Given the description of an element on the screen output the (x, y) to click on. 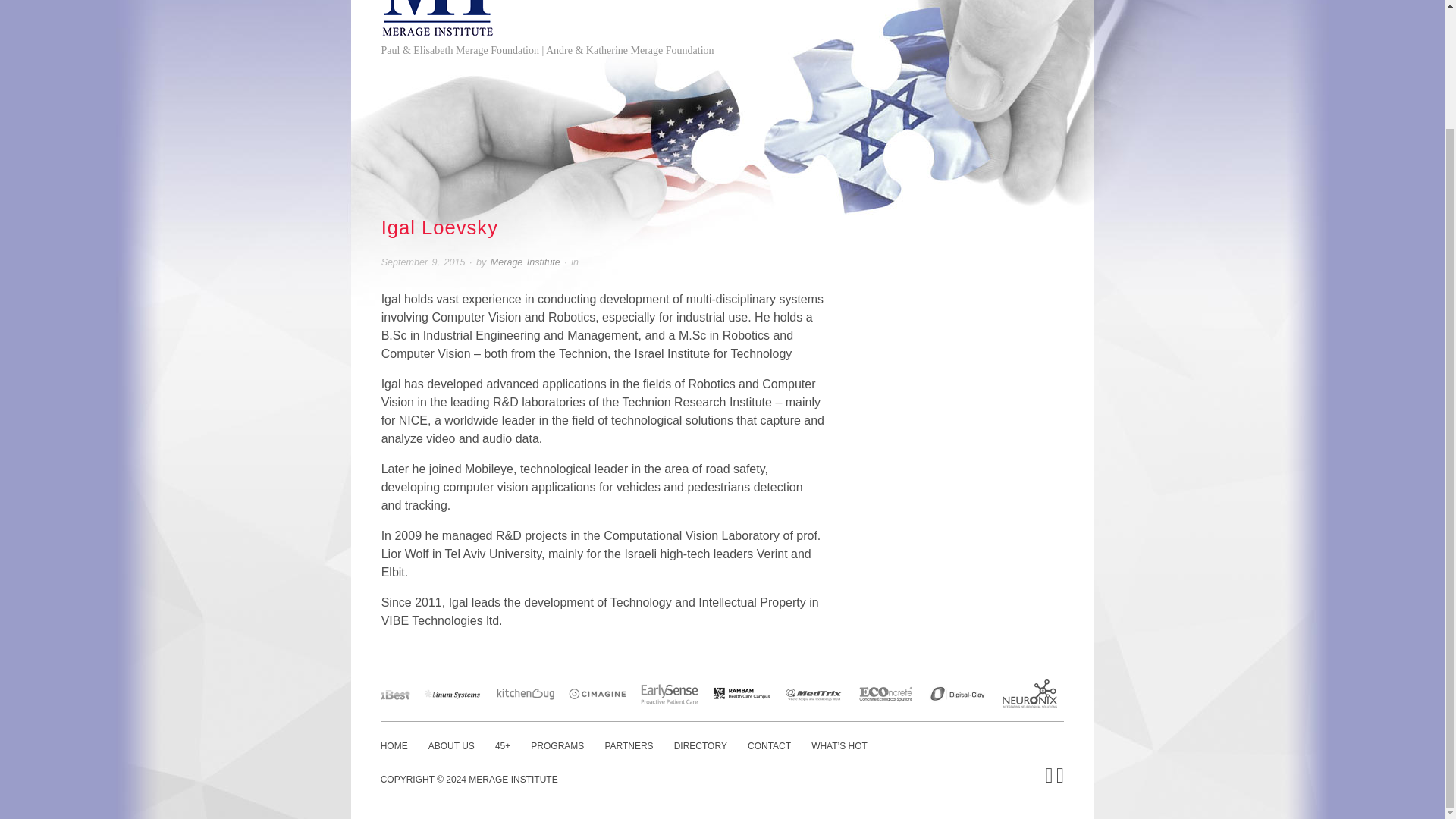
Merage Institute (525, 262)
Merage Institute (436, 18)
Merage Institute (512, 778)
Merage Institute (525, 262)
Wednesday, September 9th, 2015, 12:02 am (423, 262)
